Given the description of an element on the screen output the (x, y) to click on. 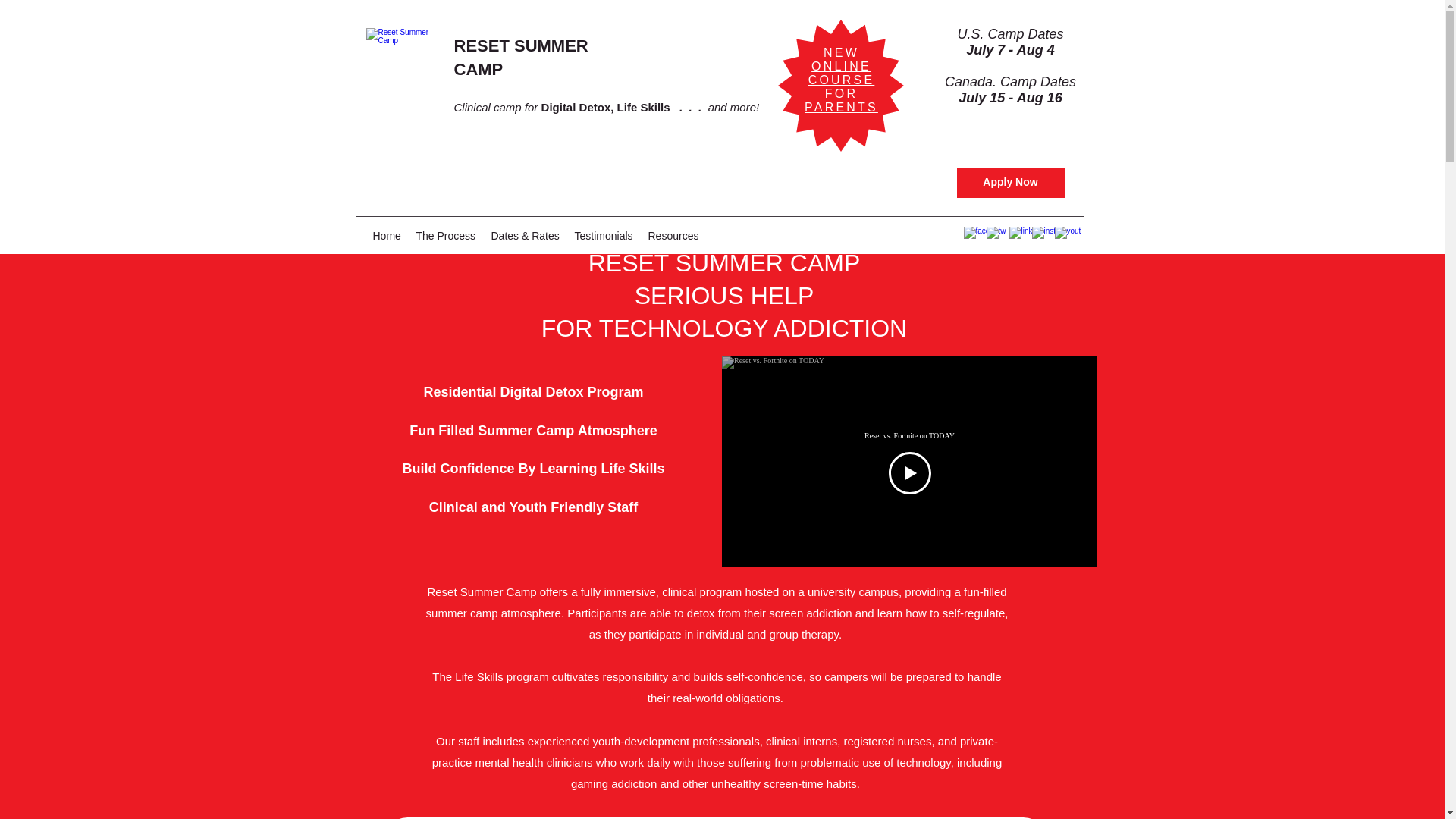
Testimonials (841, 79)
Home (603, 235)
Reset vs. Fortnite on TODAY (387, 235)
Apply Now (909, 435)
Is your child addicted to technology? (1010, 182)
